Given the description of an element on the screen output the (x, y) to click on. 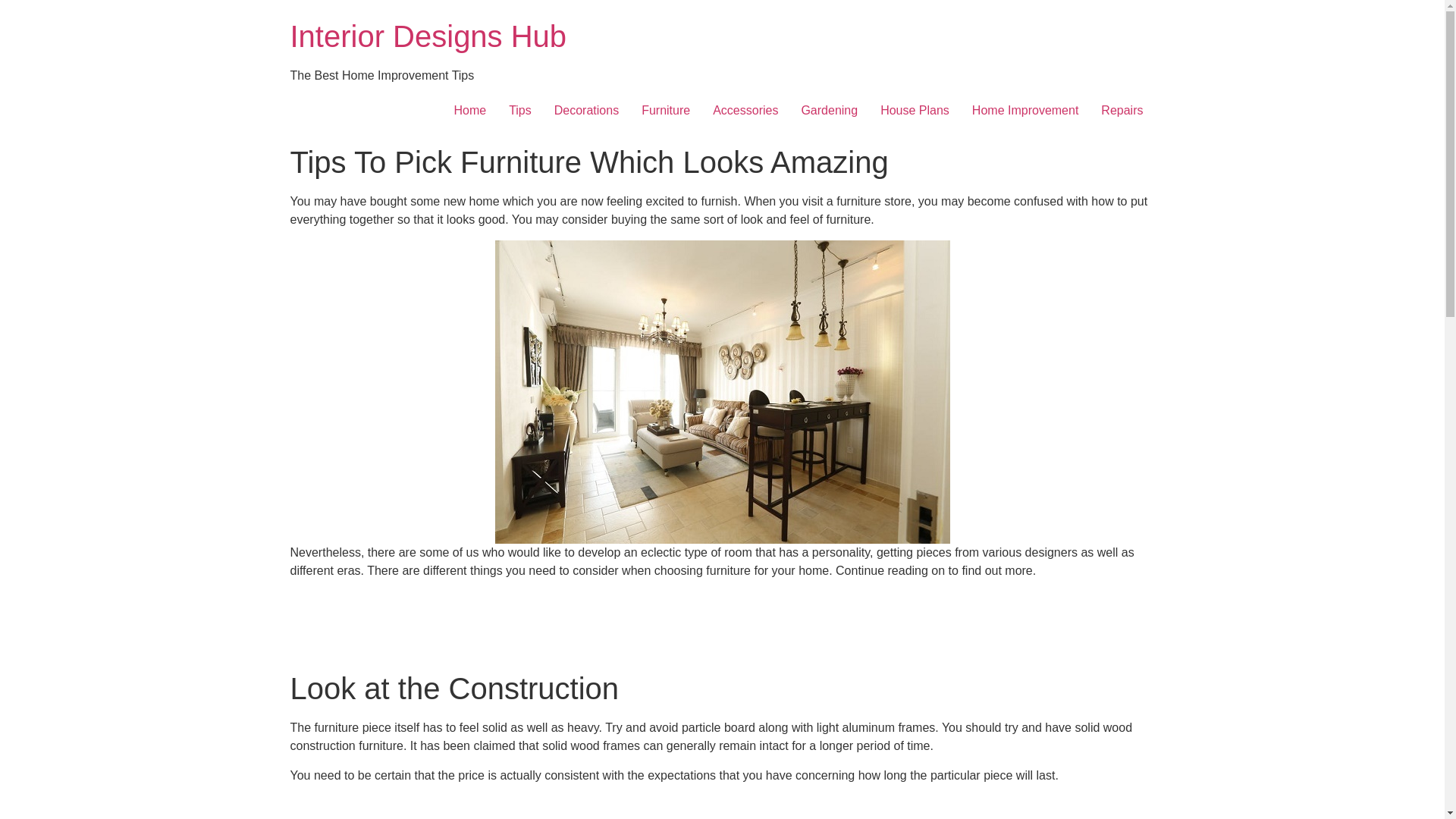
Home (469, 110)
Repairs (1121, 110)
Home (427, 36)
Advertisement (721, 807)
Advertisement (721, 624)
Furniture (665, 110)
Accessories (745, 110)
Tips (520, 110)
Decorations (586, 110)
Home Improvement (1025, 110)
